Given the description of an element on the screen output the (x, y) to click on. 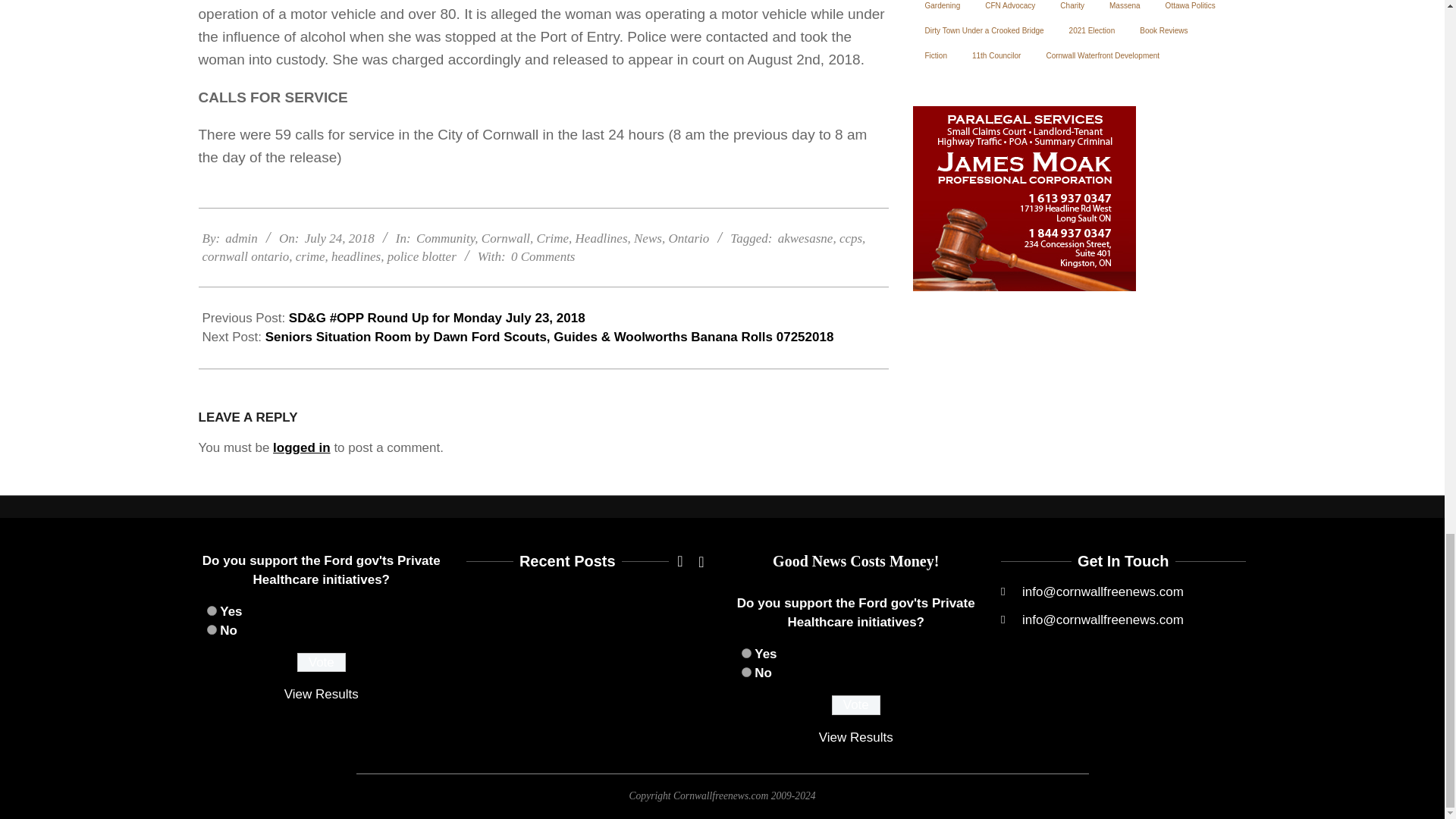
   Vote    (855, 704)
   Vote    (321, 662)
View Results Of This Poll (855, 737)
1777 (210, 629)
1777 (746, 672)
1776 (746, 653)
Tuesday, July 24, 2018, 11:25 am (339, 237)
Posts by admin (241, 237)
1776 (210, 610)
View Results Of This Poll (320, 694)
